Given the description of an element on the screen output the (x, y) to click on. 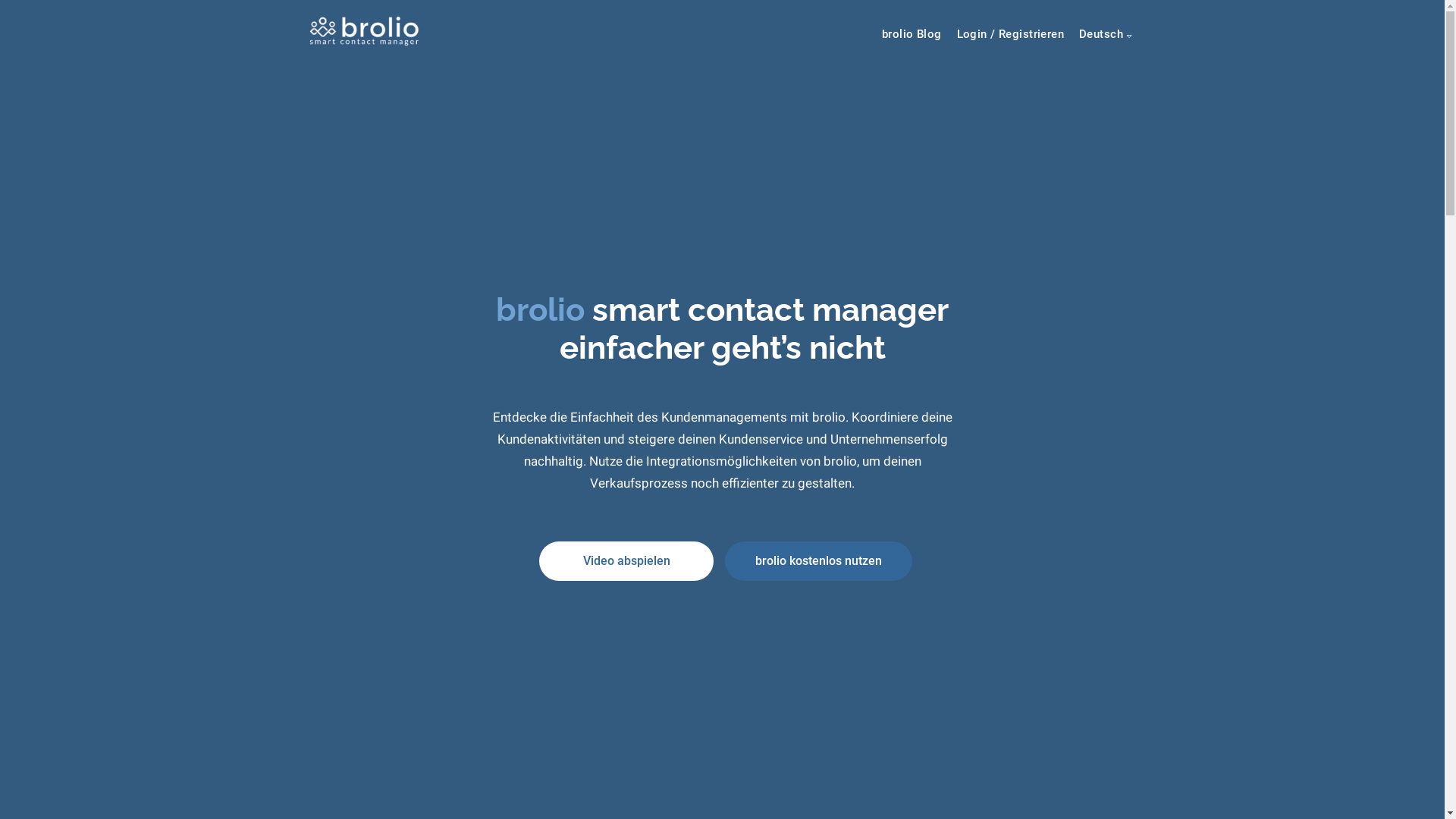
brolio kostenlos nutzen Element type: text (818, 560)
Video abspielen Element type: text (626, 560)
brolio Blog Element type: text (911, 33)
Deutsch Element type: text (1105, 33)
Login / Registrieren Element type: text (1010, 33)
